Given the description of an element on the screen output the (x, y) to click on. 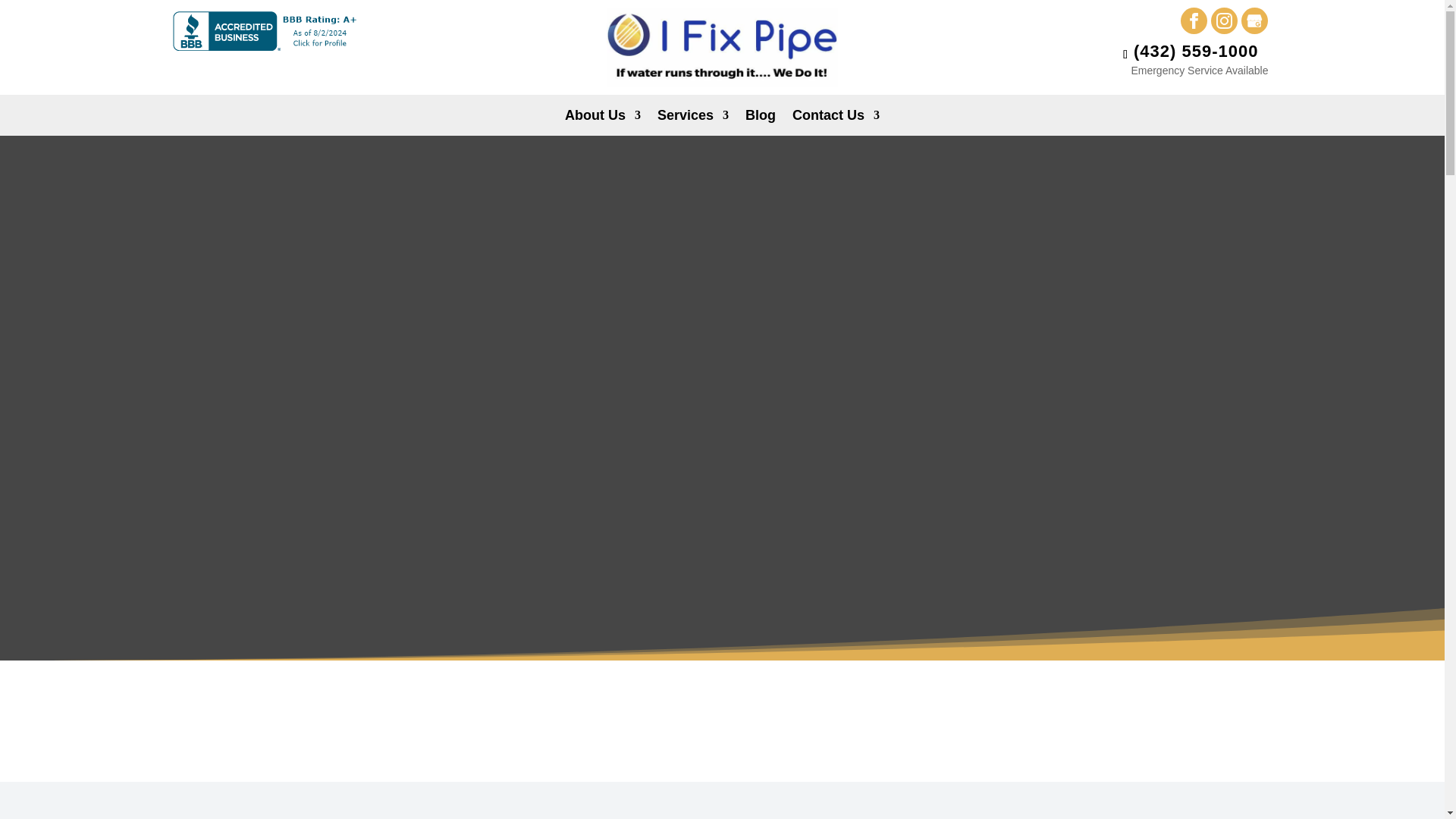
About Us (602, 117)
Instagram (1223, 20)
Facebook (1194, 20)
Services (693, 117)
Instagram (1224, 20)
Google My Business (1254, 20)
Facebook (1193, 20)
Blog (760, 117)
Contact Us (835, 117)
Google My Business (1254, 20)
I-Fix-Pipe-logo (722, 46)
